Given the description of an element on the screen output the (x, y) to click on. 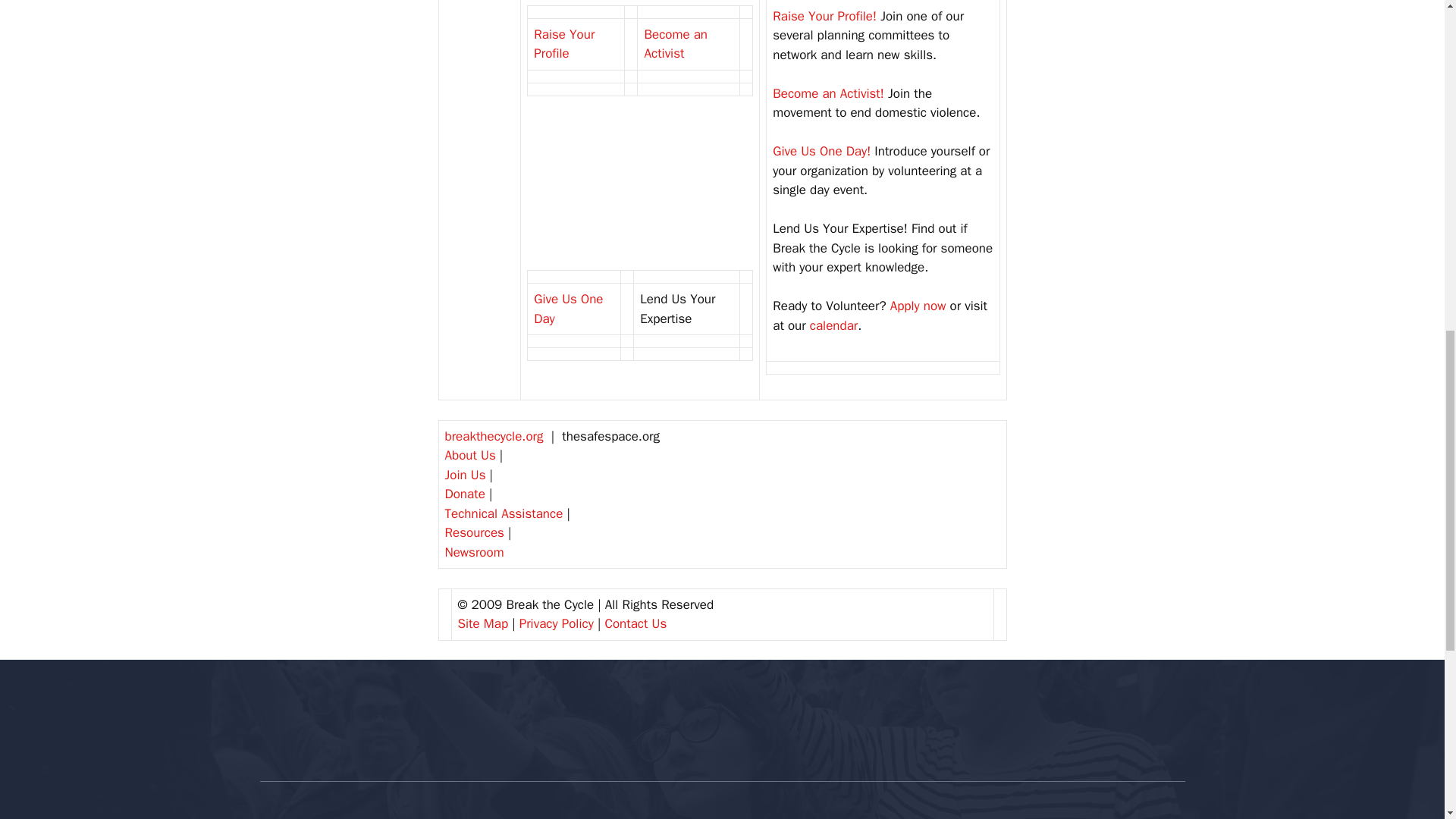
About Us (469, 455)
Become an Activist (675, 44)
Resources (473, 532)
Technical Assistance (503, 513)
Apply now (917, 305)
Give Us One Day (568, 308)
Raise Your Profile! (824, 16)
Give Us One Day! (821, 150)
Raise Your Profile (564, 44)
Become an Activist! (828, 93)
